Given the description of an element on the screen output the (x, y) to click on. 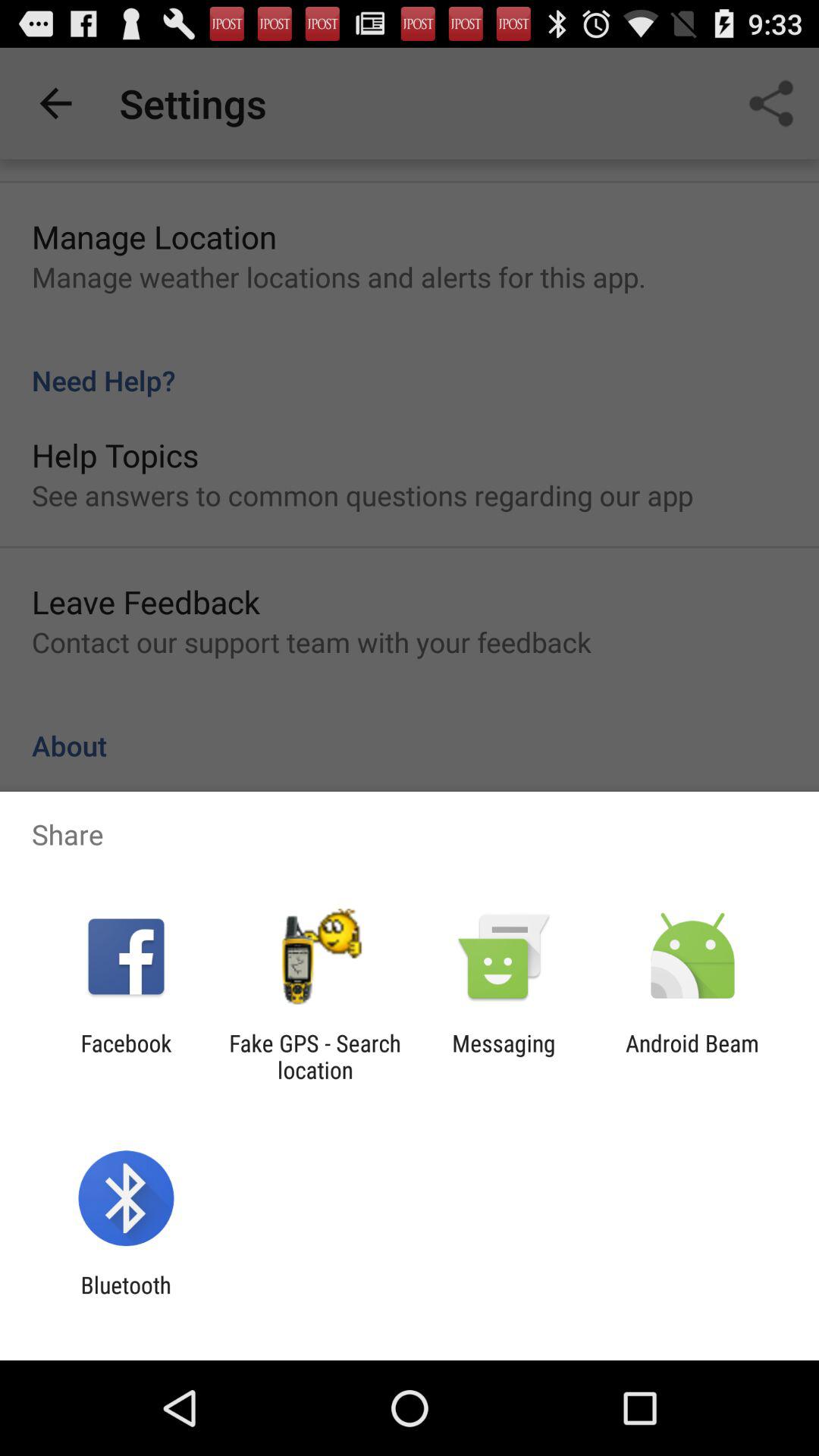
open item to the right of the messaging (692, 1056)
